Given the description of an element on the screen output the (x, y) to click on. 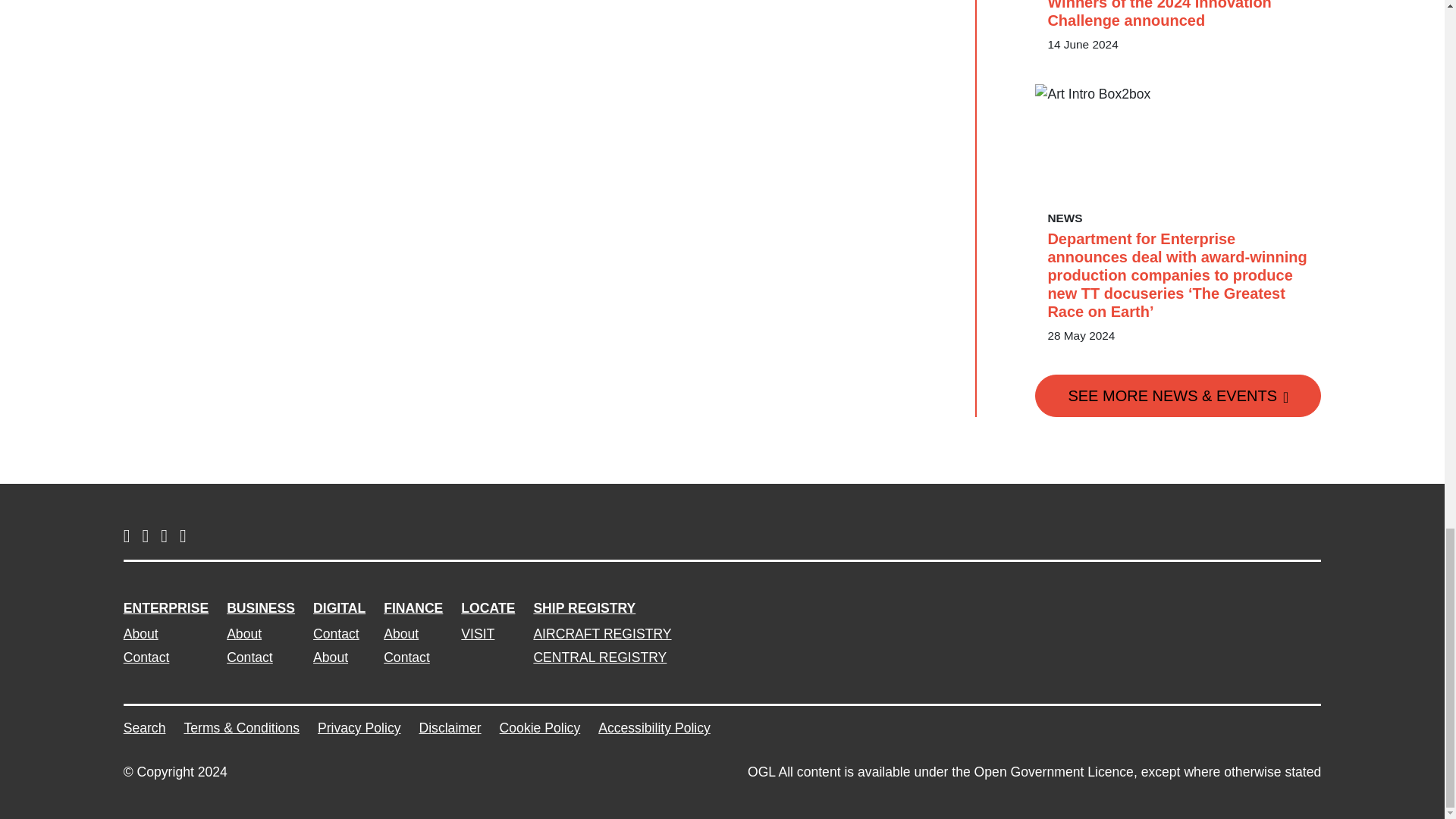
BUSINESS (261, 608)
ENTERPRISE (165, 608)
Winners of the 2024 Innovation Challenge announced (1177, 14)
Contact (165, 657)
About (261, 633)
About (165, 633)
